Given the description of an element on the screen output the (x, y) to click on. 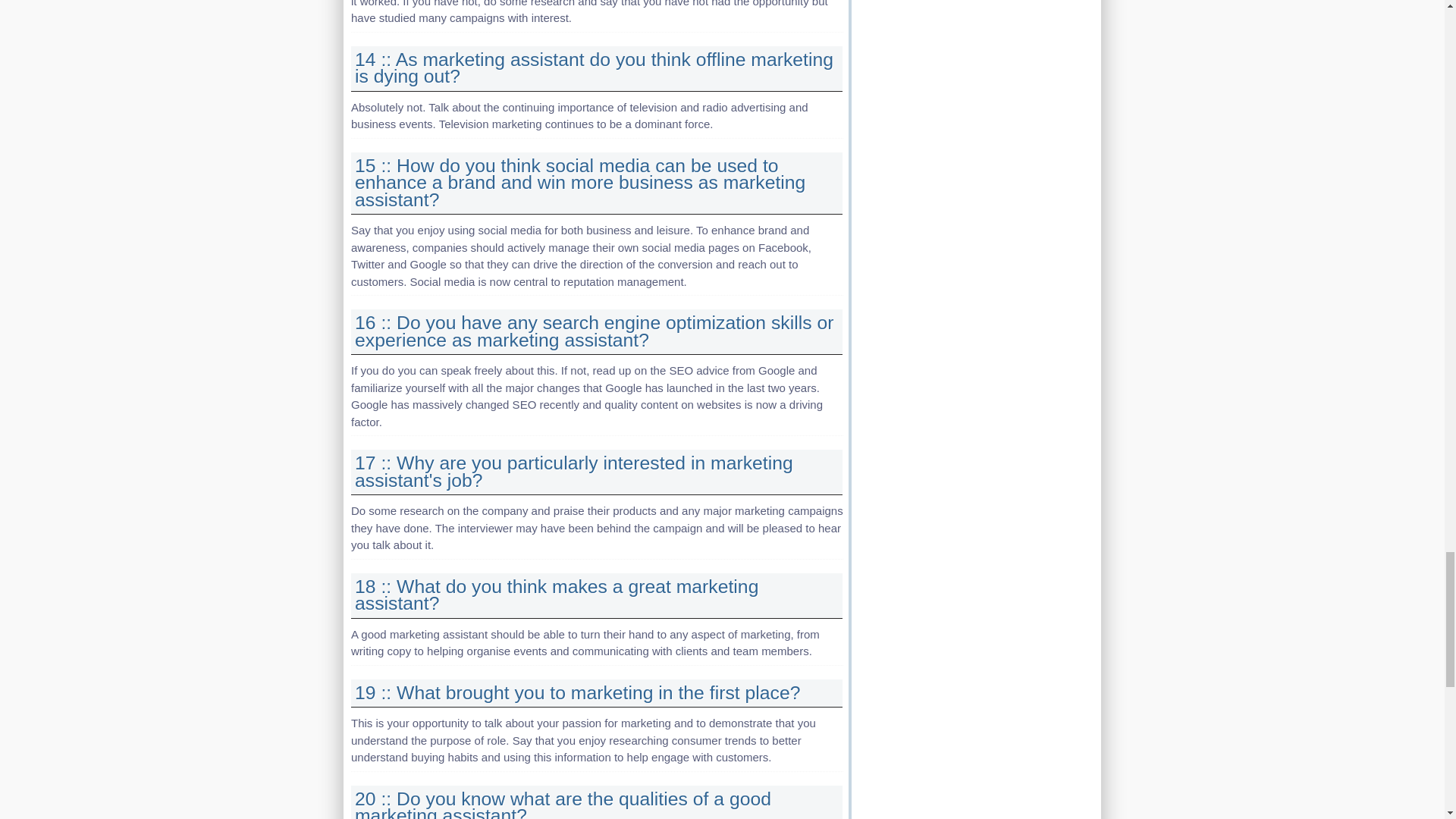
View all Answers (574, 471)
View all Answers (593, 67)
View all Answers (593, 331)
View all Answers (580, 182)
View all Answers (556, 595)
